Given the description of an element on the screen output the (x, y) to click on. 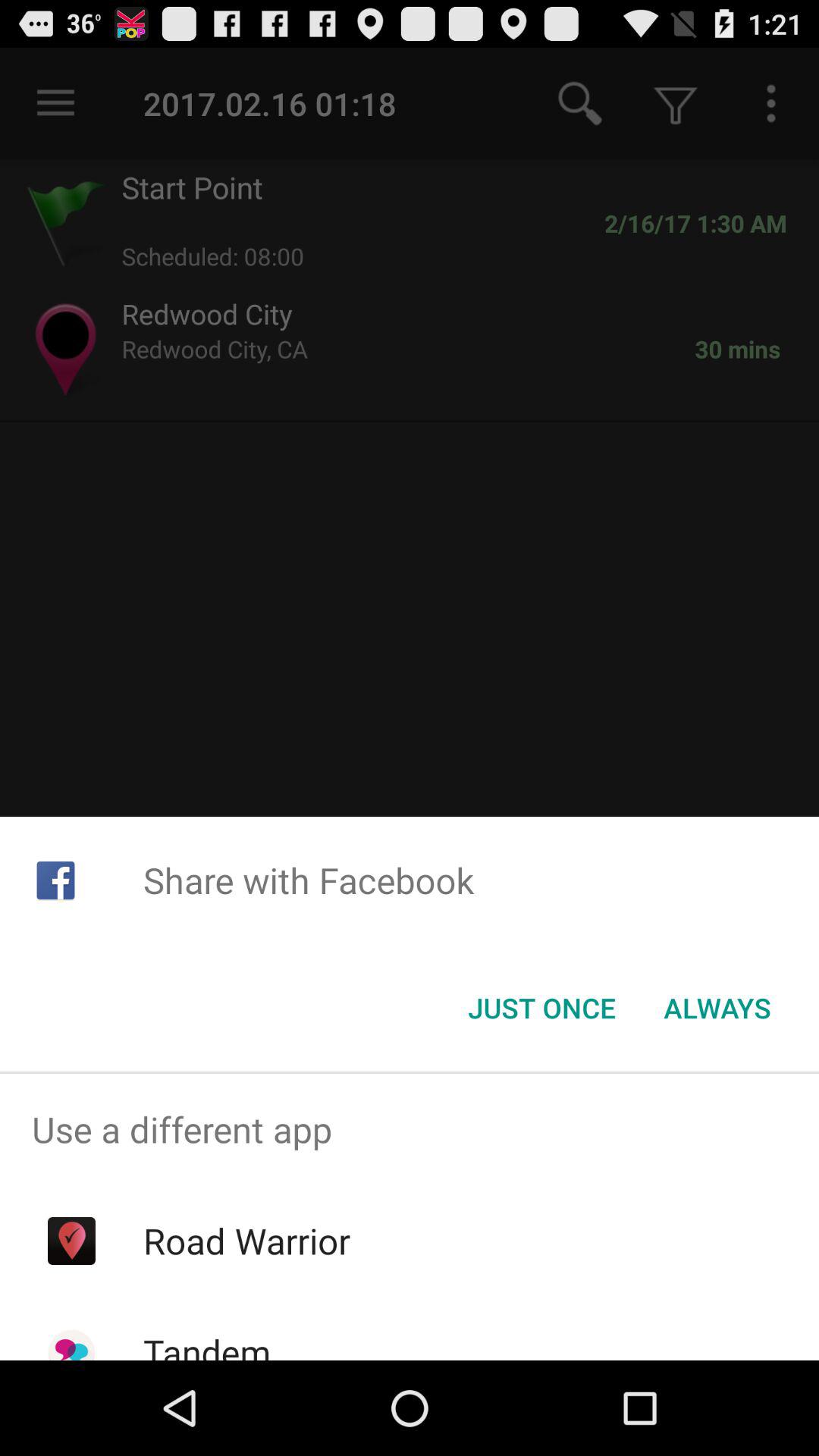
scroll until the use a different app (409, 1129)
